Given the description of an element on the screen output the (x, y) to click on. 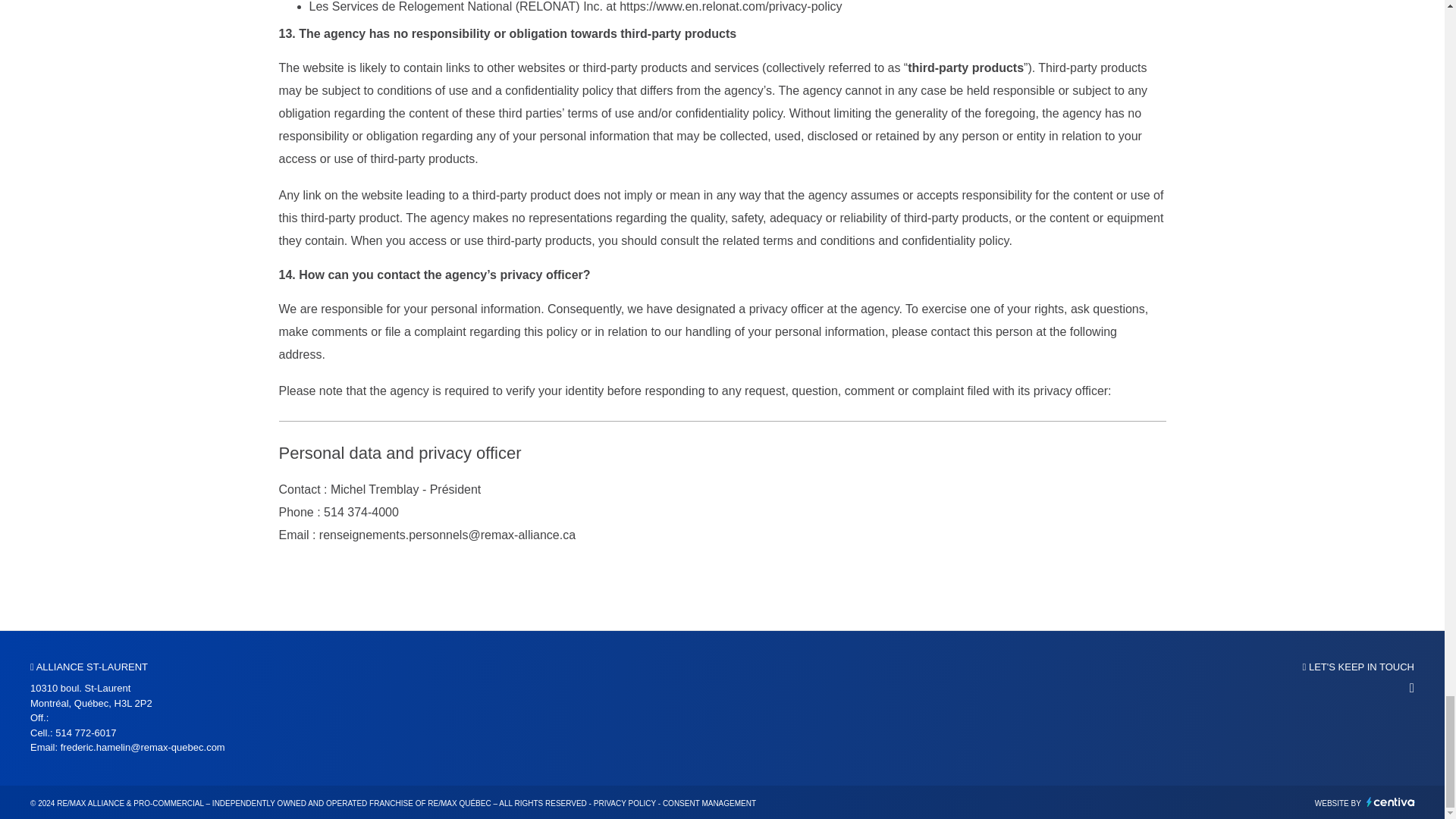
CENTIVA (1391, 801)
514 772-6017 (85, 732)
PRIVACY POLICY (625, 803)
CONSENT MANAGEMENT (708, 803)
